Given the description of an element on the screen output the (x, y) to click on. 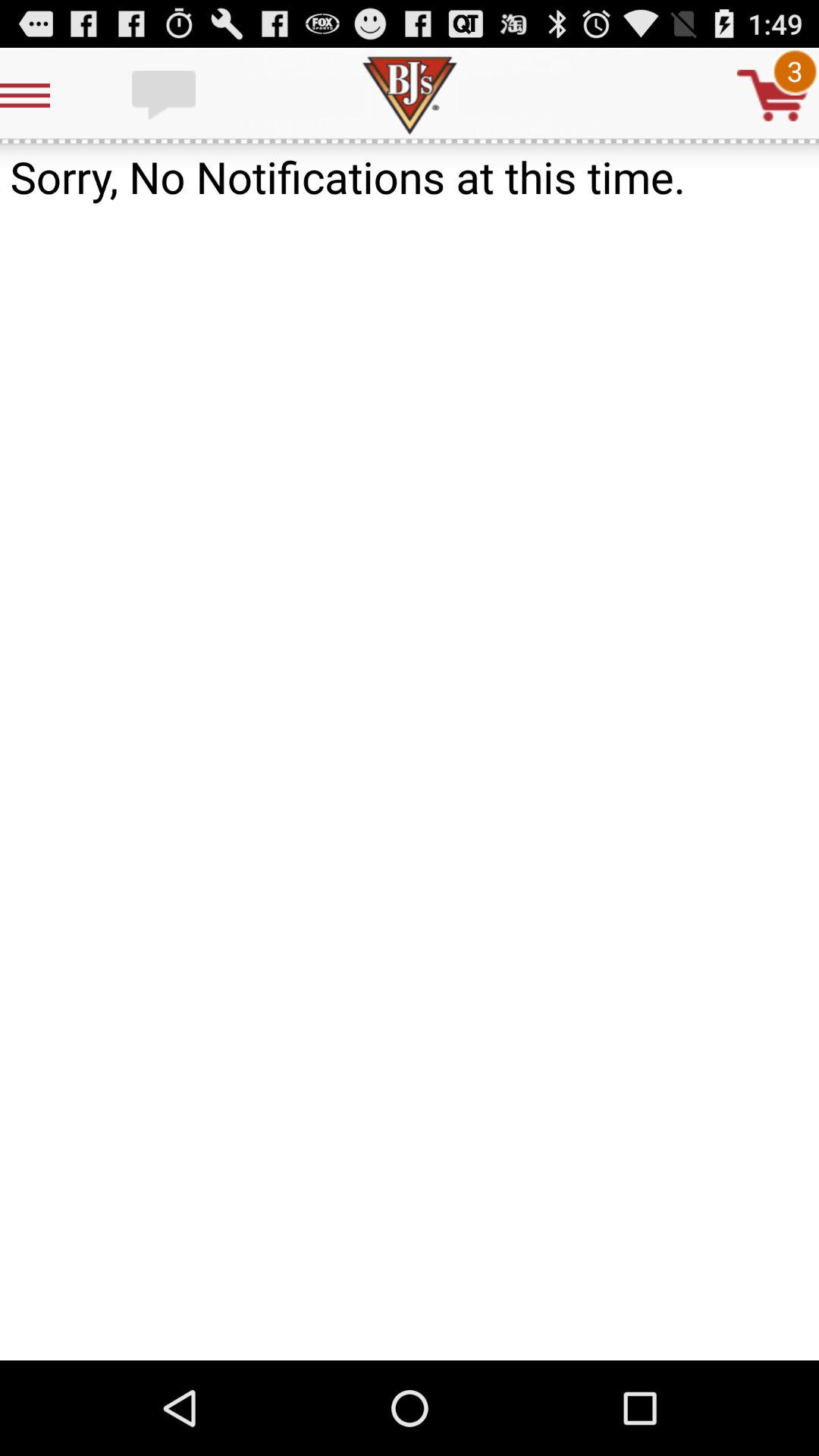
text chat (165, 95)
